Given the description of an element on the screen output the (x, y) to click on. 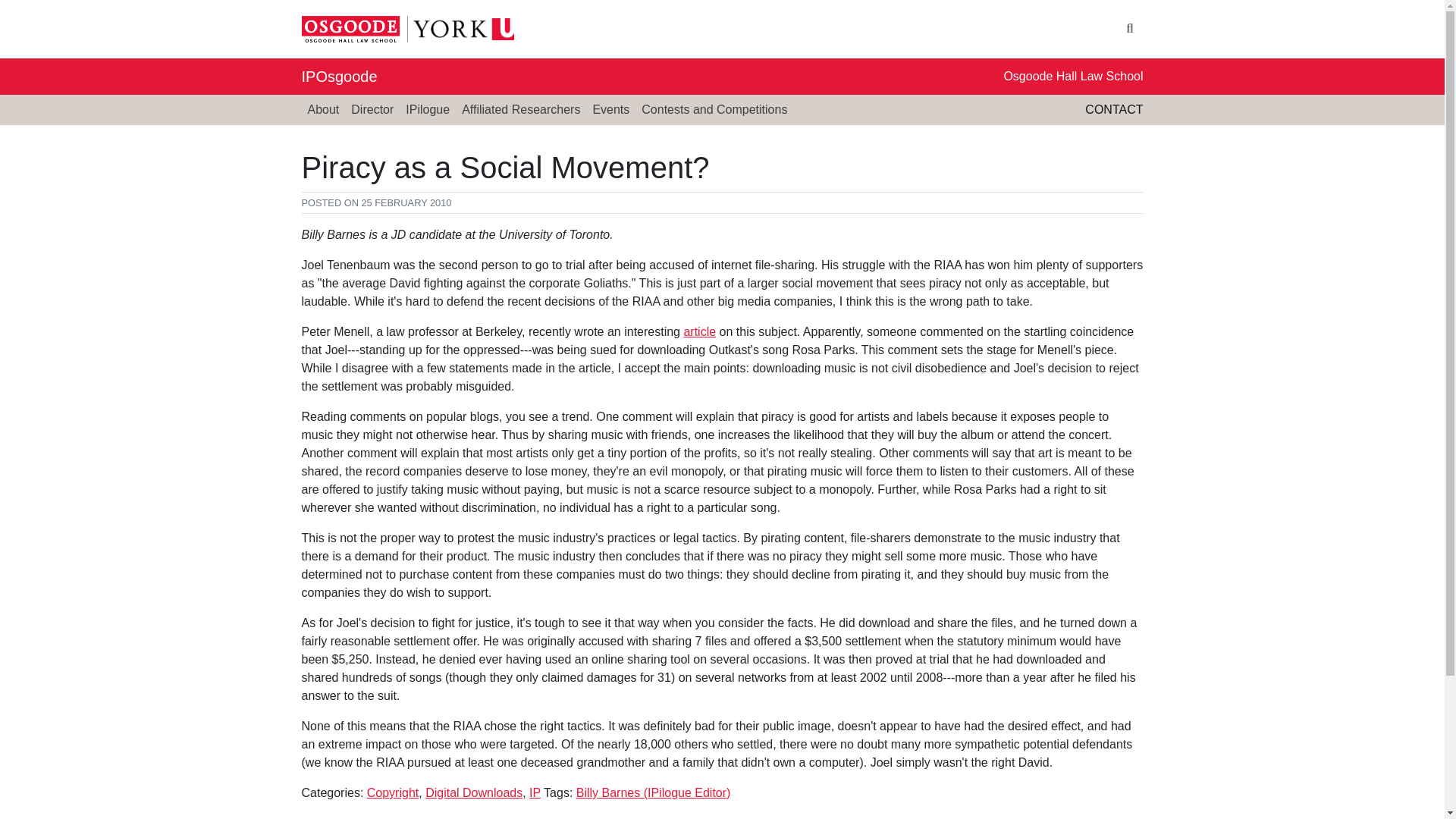
Copyright (392, 792)
IPilogue (426, 110)
CONTACT (1113, 109)
Digital Downloads (473, 792)
Contests and Competitions (713, 110)
Search (1129, 28)
IPOsgoode (339, 76)
Director (371, 110)
Affiliated Researchers (520, 110)
Osgoode Hall Law School (1072, 75)
About (323, 110)
article (699, 331)
Events (610, 110)
